Given the description of an element on the screen output the (x, y) to click on. 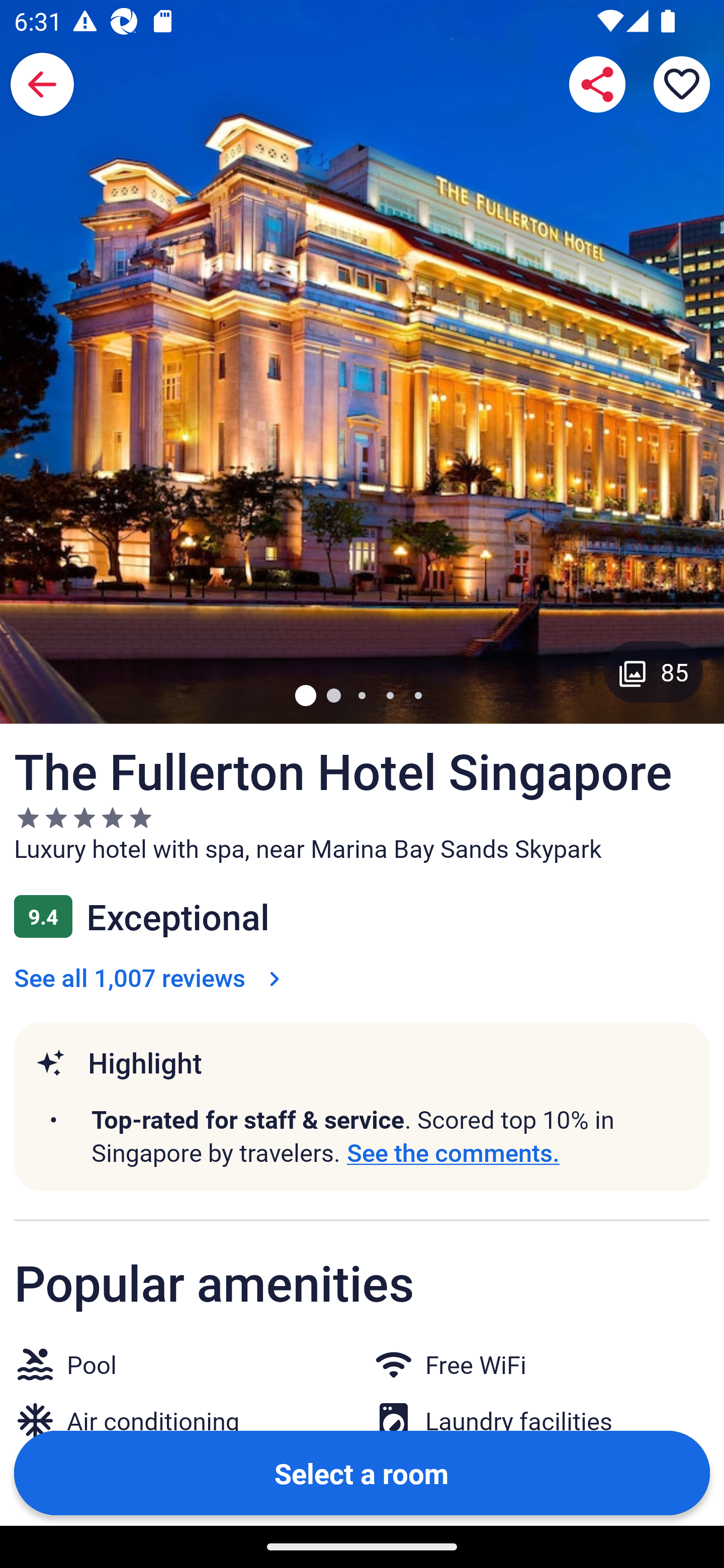
Back (42, 84)
Save property to a trip (681, 84)
Share The Fullerton Hotel Singapore (597, 84)
Gallery button with 85 images (653, 671)
See all 1,007 reviews See all 1,007 reviews Link (150, 976)
Select a room Button Select a room (361, 1472)
